Given the description of an element on the screen output the (x, y) to click on. 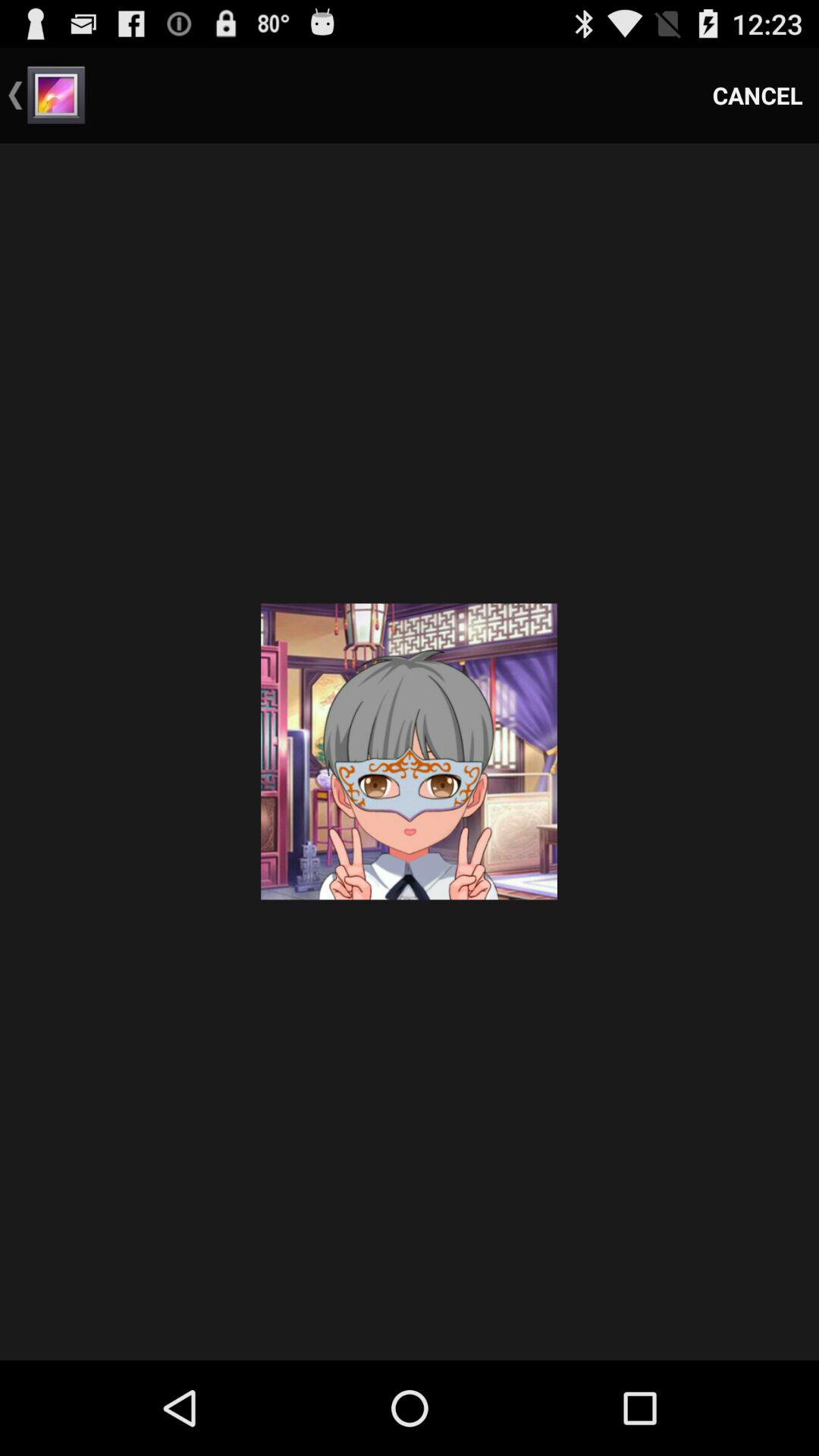
choose the item at the top right corner (757, 95)
